Given the description of an element on the screen output the (x, y) to click on. 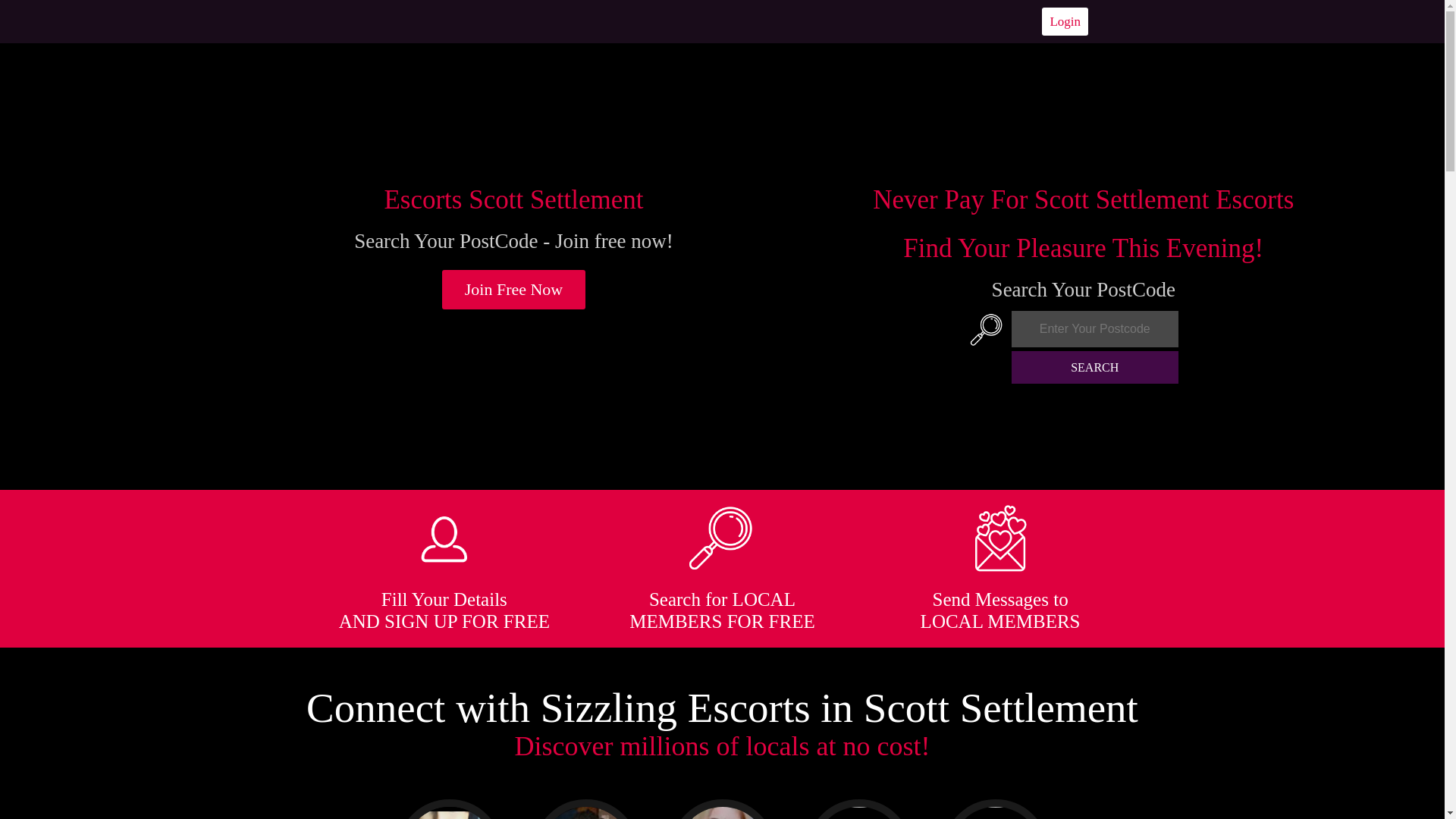
Login (1064, 21)
SEARCH (1094, 367)
Join (514, 289)
Login (1064, 21)
Join Free Now (514, 289)
